Given the description of an element on the screen output the (x, y) to click on. 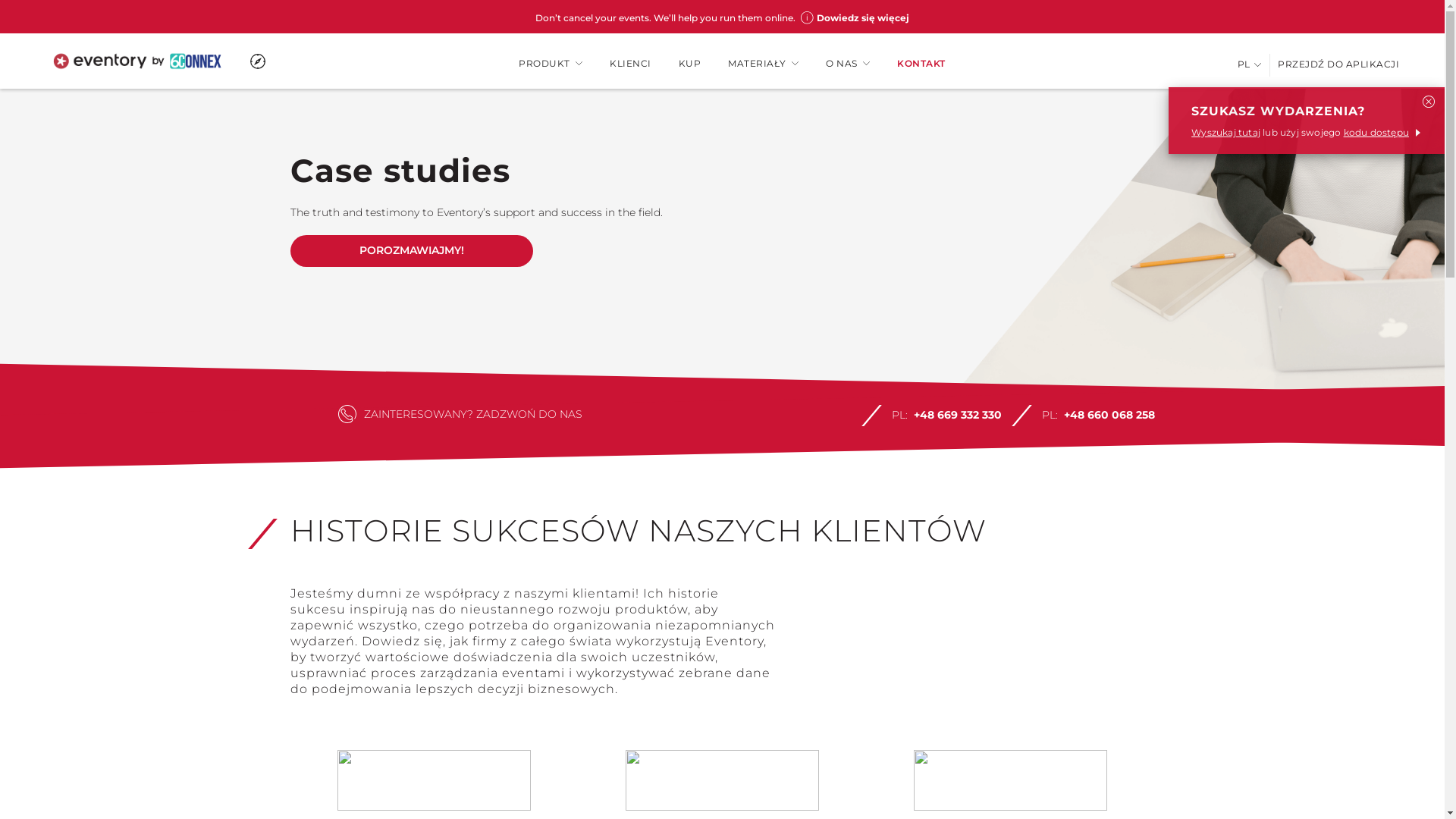
Produkt Element type: hover (166, 148)
Wyszukaj tutaj Element type: text (1225, 132)
O NAS ARROW RIGHT Element type: text (847, 63)
KUP Element type: text (689, 63)
PRODUKT ARROW RIGHT Element type: text (550, 63)
PL ARROW RIGHT Element type: text (1249, 63)
POROZMAWIAJMY! Element type: text (410, 250)
+48 660 068 258 Element type: text (1108, 414)
+48 669 332 330 Element type: text (957, 414)
KONTAKT Element type: text (921, 63)
KLIENCI Element type: text (630, 63)
